Given the description of an element on the screen output the (x, y) to click on. 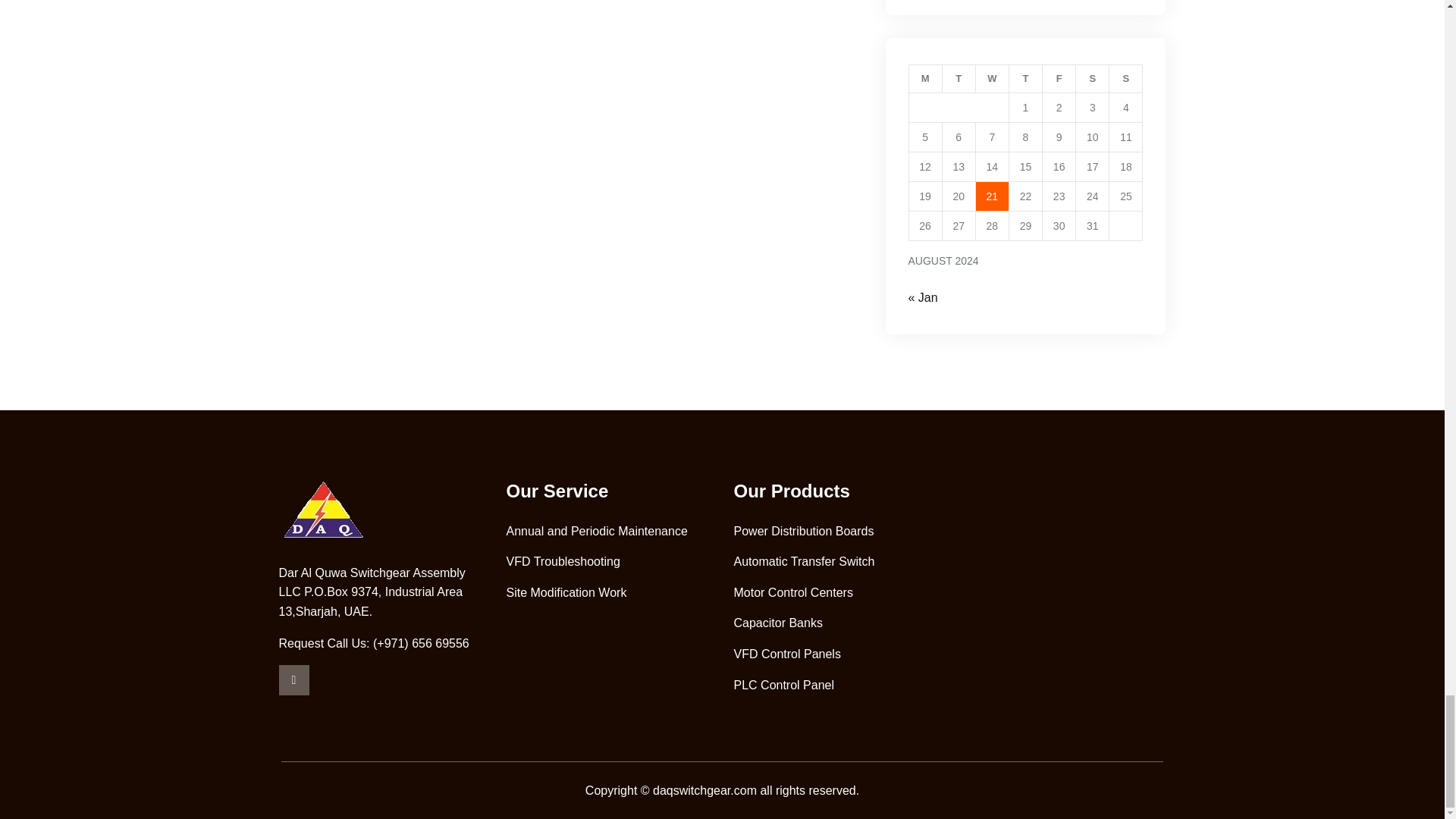
Monday (925, 79)
Thursday (1025, 79)
Facebook (293, 680)
Friday (1058, 79)
Tuesday (958, 79)
Wednesday (992, 79)
Sunday (1125, 79)
Saturday (1092, 79)
